Given the description of an element on the screen output the (x, y) to click on. 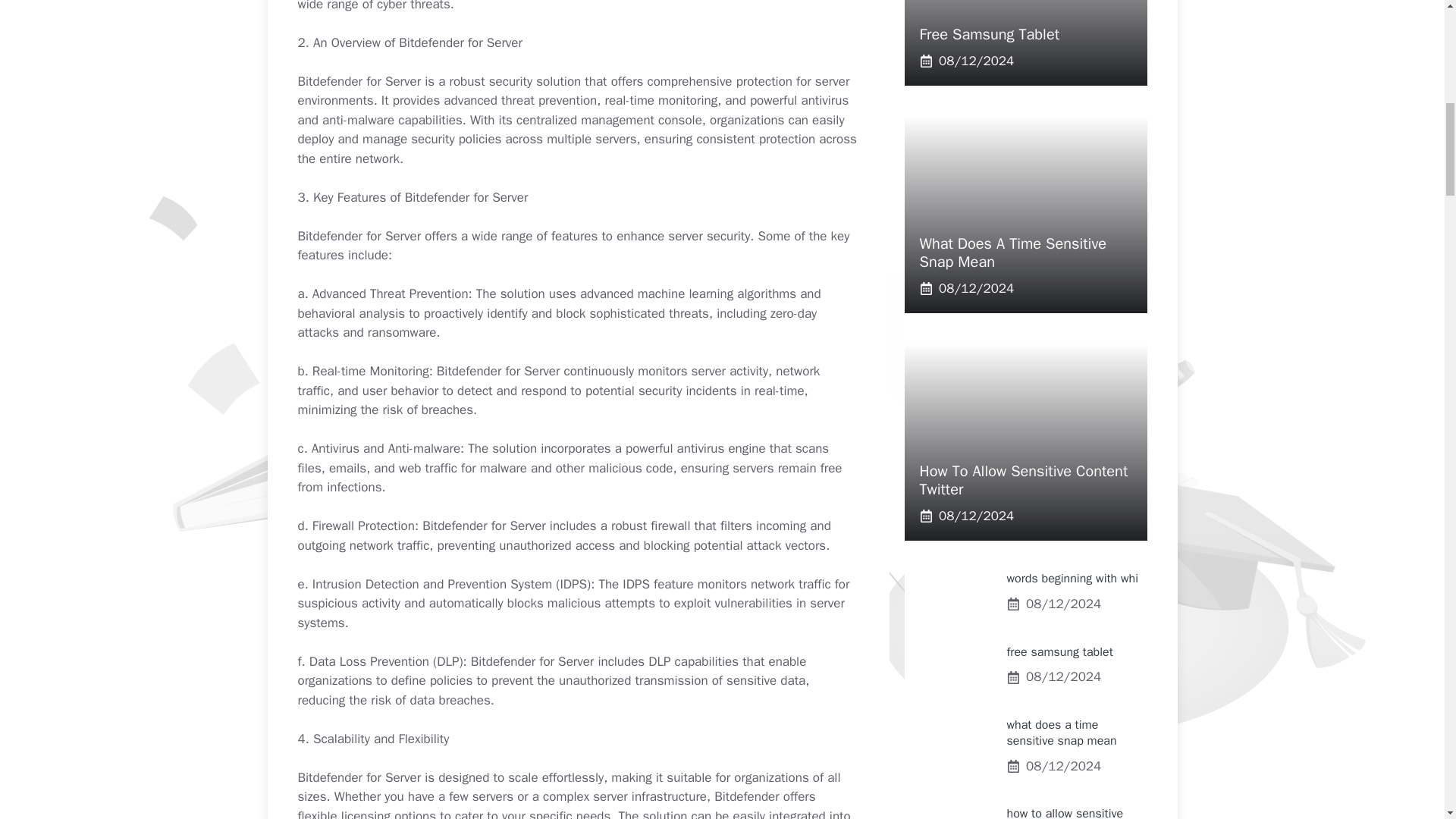
words beginning with whi (1072, 578)
how to allow sensitive content twitter (1065, 812)
Free Samsung Tablet (988, 34)
What Does A Time Sensitive Snap Mean (1011, 252)
free samsung tablet (1060, 652)
what does a time sensitive snap mean (1061, 732)
Scroll back to top (1406, 720)
How To Allow Sensitive Content Twitter (1022, 479)
